Given the description of an element on the screen output the (x, y) to click on. 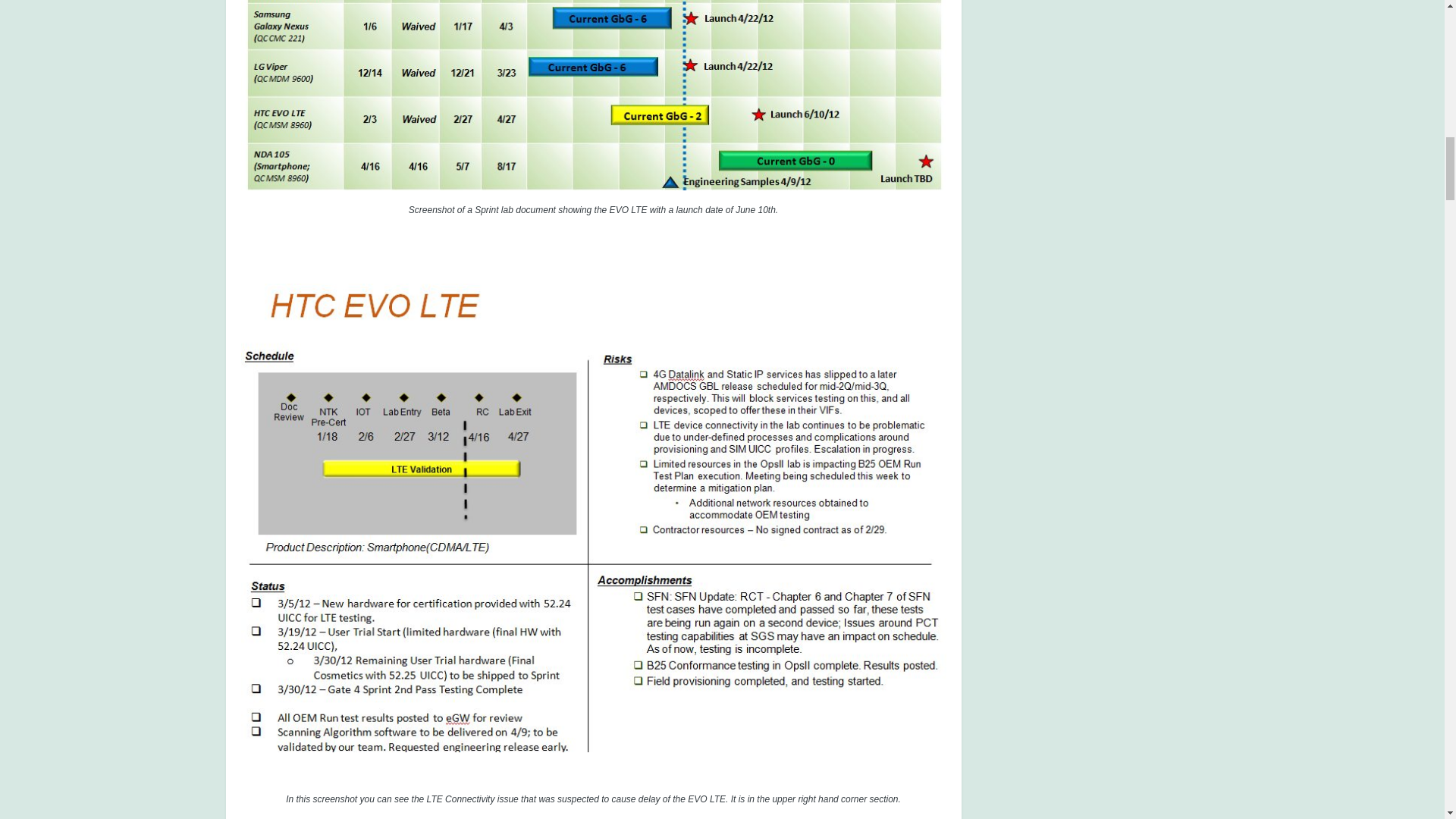
Enlarge image (593, 517)
Enlarge image (593, 6)
